Given the description of an element on the screen output the (x, y) to click on. 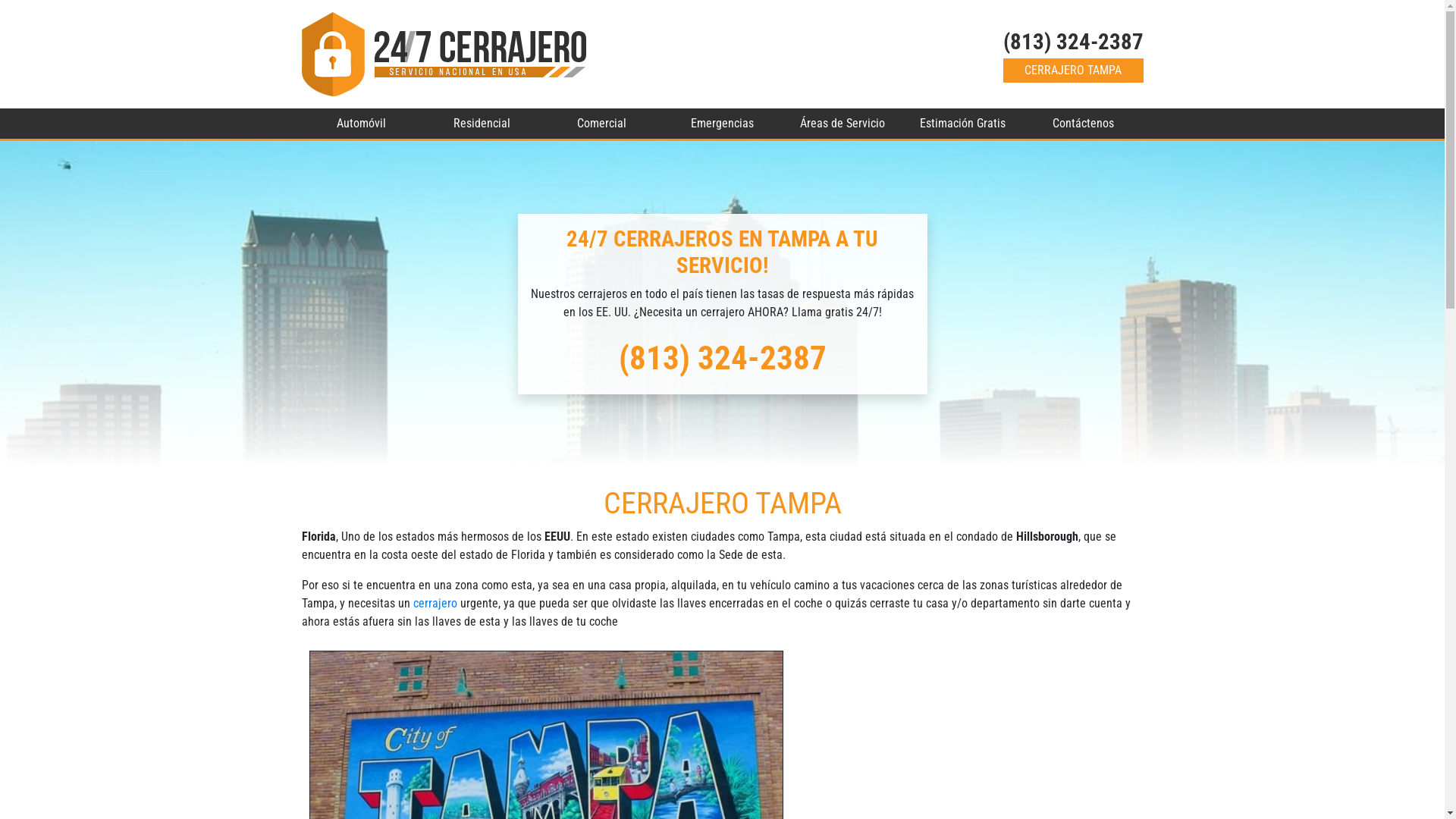
(813) 324-2387 Element type: text (722, 357)
cerrajero Element type: text (434, 603)
Home Element type: hover (443, 53)
Comercial Element type: text (602, 123)
(813) 324-2387 Element type: text (1072, 41)
Residencial Element type: text (481, 123)
Emergencias Element type: text (722, 123)
Home Element type: hover (443, 54)
